Given the description of an element on the screen output the (x, y) to click on. 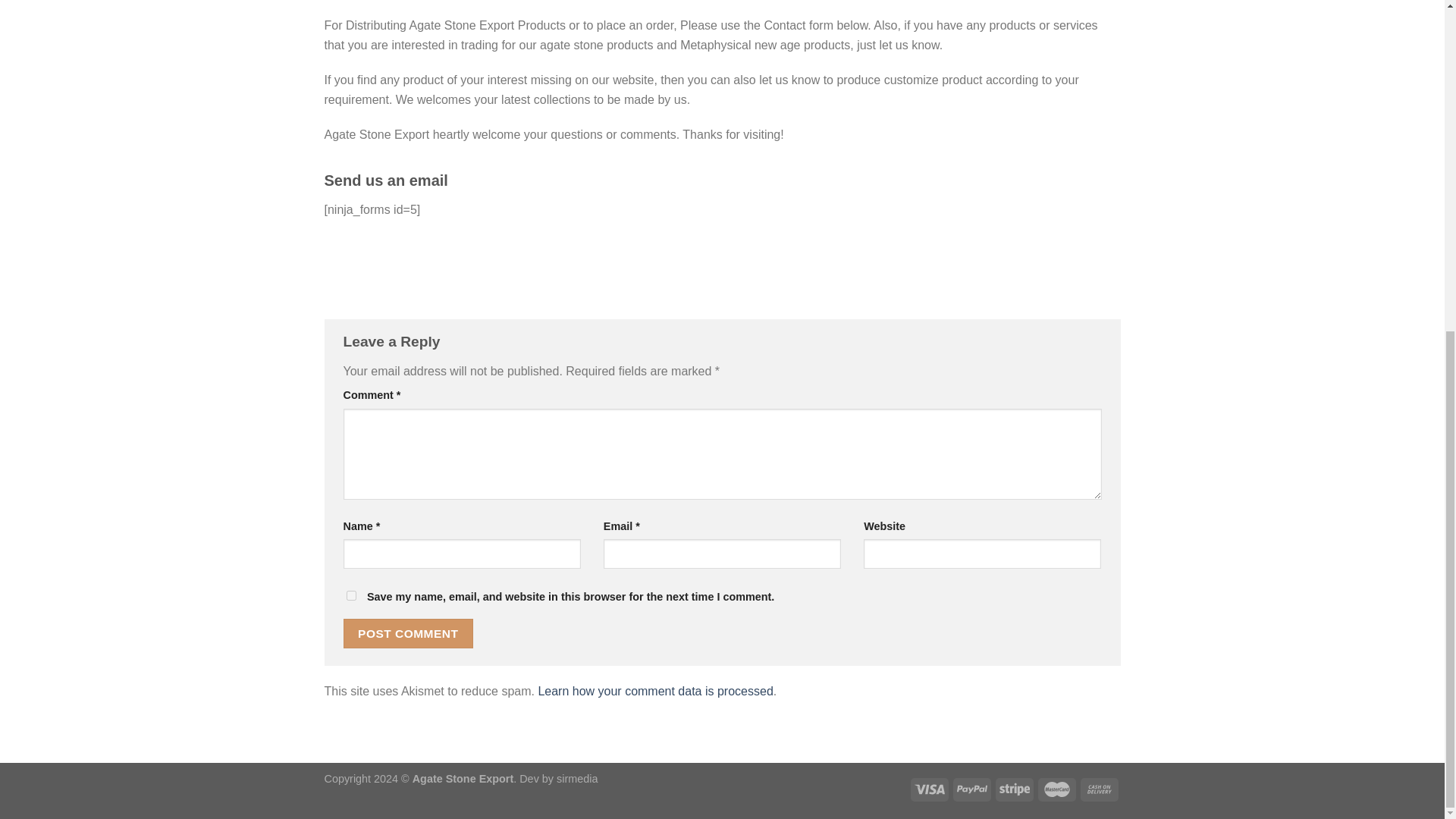
Post Comment (407, 633)
yes (350, 595)
web development company in ahmedabad (576, 778)
